Given the description of an element on the screen output the (x, y) to click on. 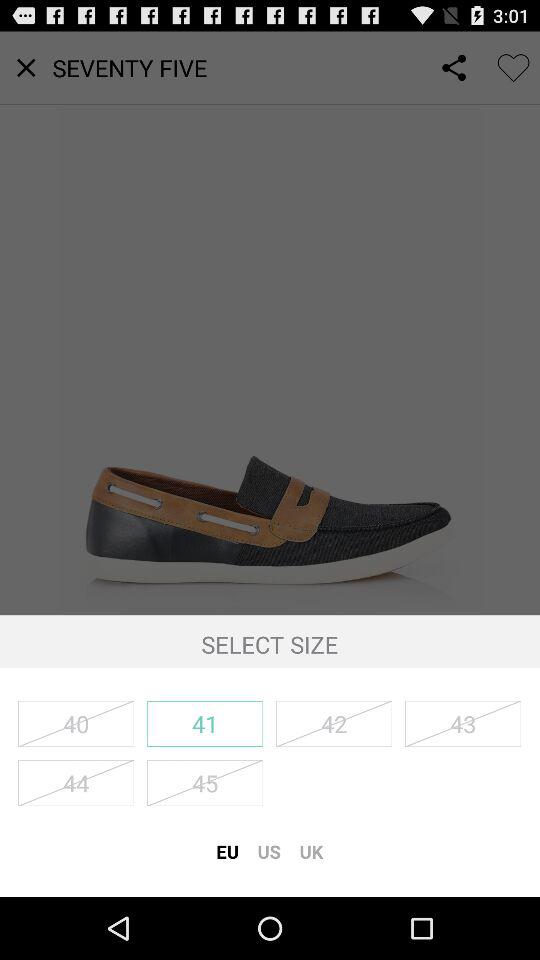
choose item next to us item (311, 851)
